Given the description of an element on the screen output the (x, y) to click on. 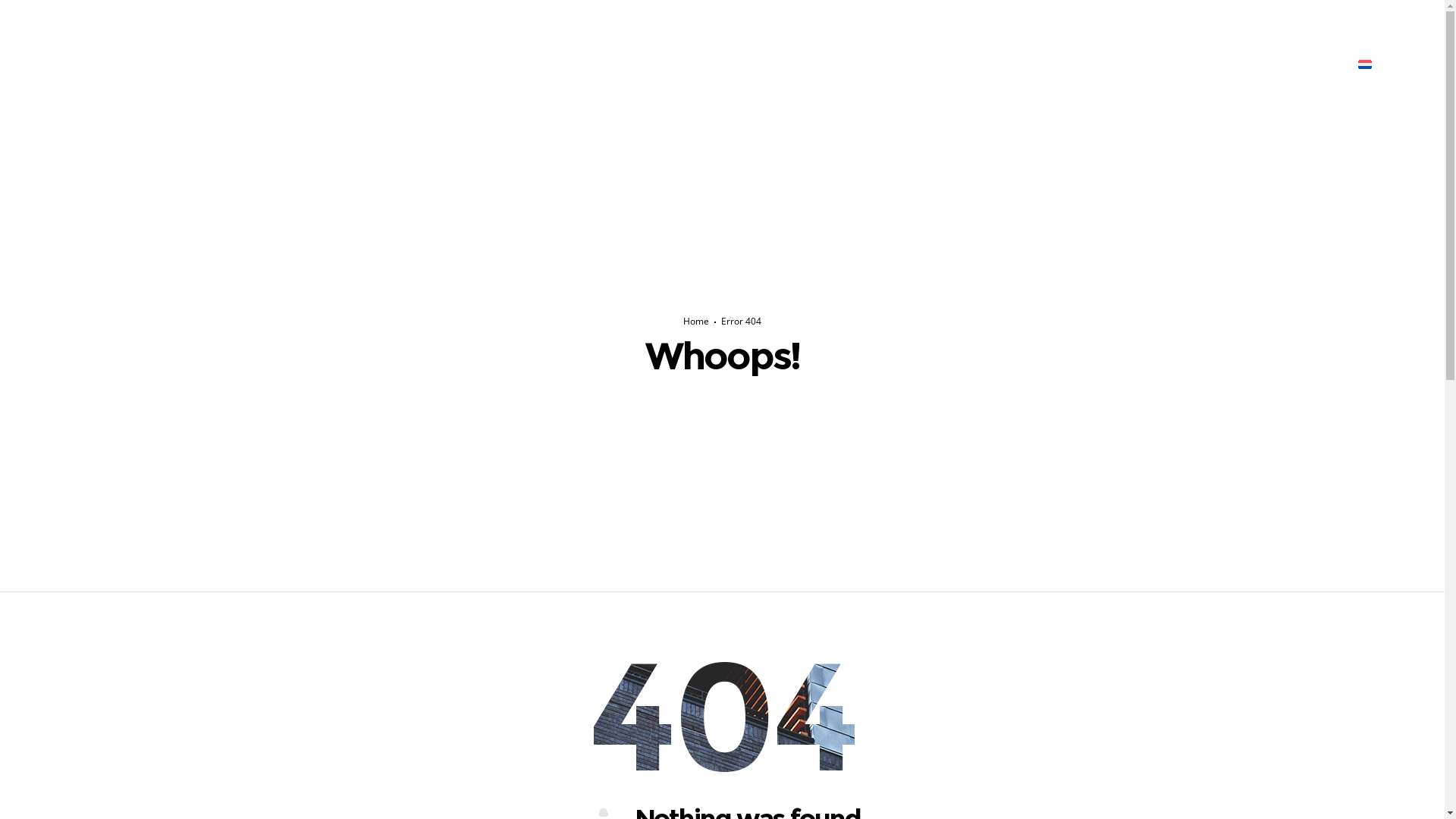
CONTACT Element type: text (935, 64)
Site logo Element type: hover (660, 64)
PARTNERS Element type: text (820, 64)
Facebook Element type: hover (1401, 14)
Site logo Element type: hover (647, 64)
Home Element type: text (696, 320)
FESTIVAL Element type: text (507, 64)
Instagram Element type: hover (1423, 14)
Nederlands Element type: text (1393, 64)
